Given the description of an element on the screen output the (x, y) to click on. 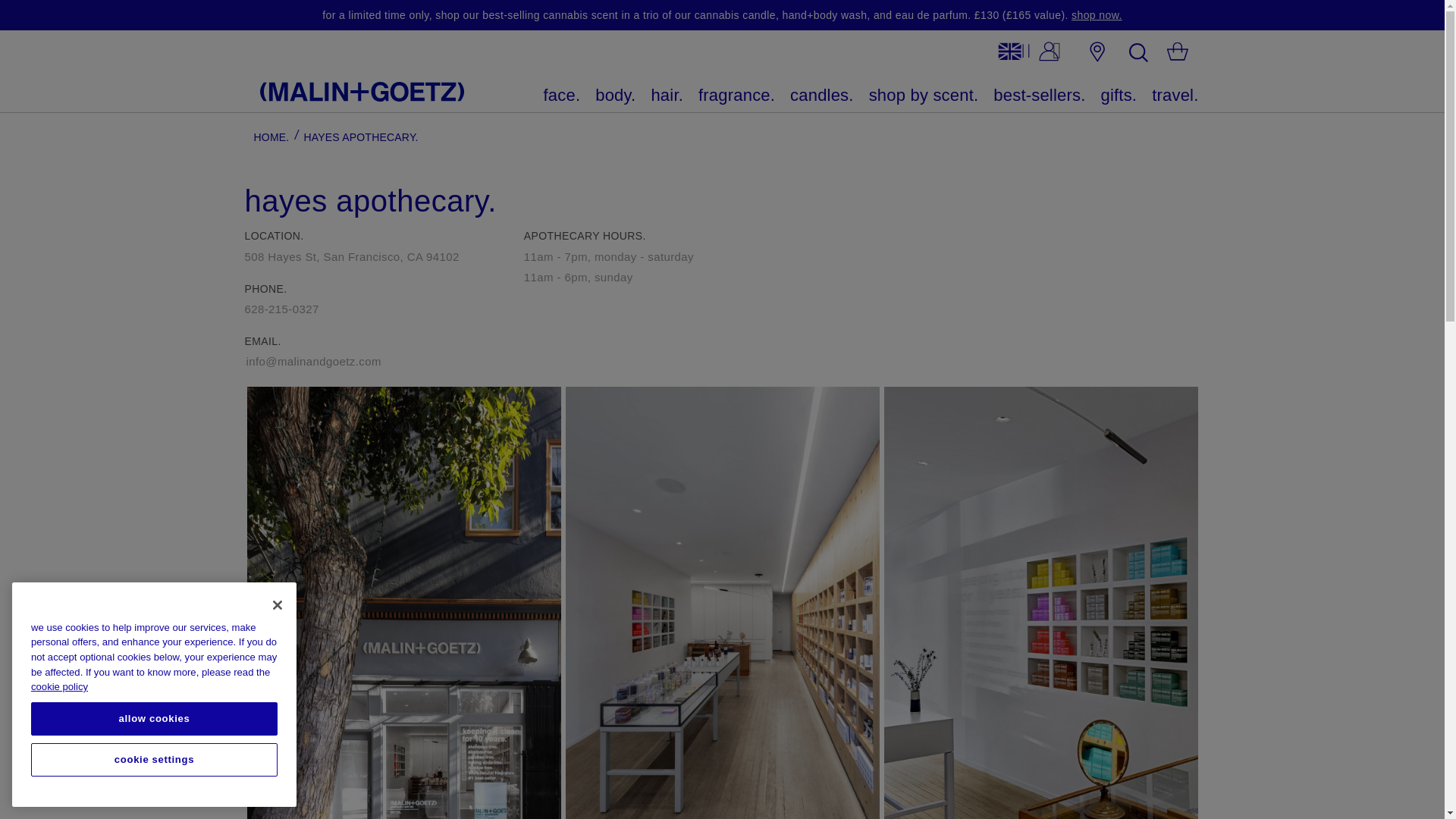
body. (615, 94)
shop now. (1096, 15)
face. (561, 94)
Go to Home Page (270, 136)
My Bag (1177, 53)
